Given the description of an element on the screen output the (x, y) to click on. 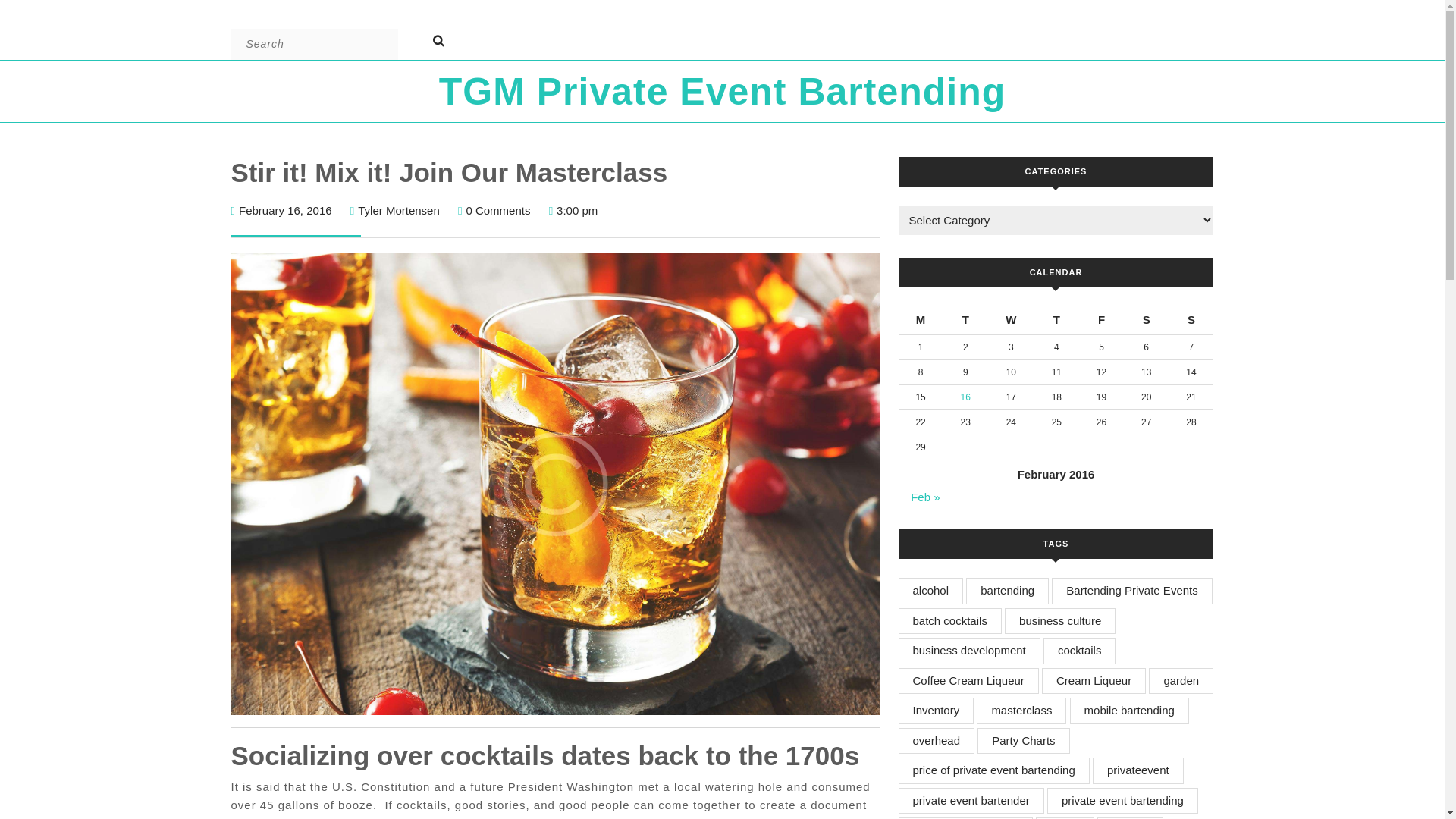
Monday (920, 320)
Sunday (1190, 320)
Friday (1101, 320)
business development (968, 651)
bartending (1007, 591)
cocktails (1079, 651)
Thursday (1055, 320)
Search (447, 40)
Saturday (1146, 320)
Search (447, 40)
mobile bartending (1129, 710)
16 (965, 397)
batch cocktails (949, 621)
business culture (398, 210)
